Given the description of an element on the screen output the (x, y) to click on. 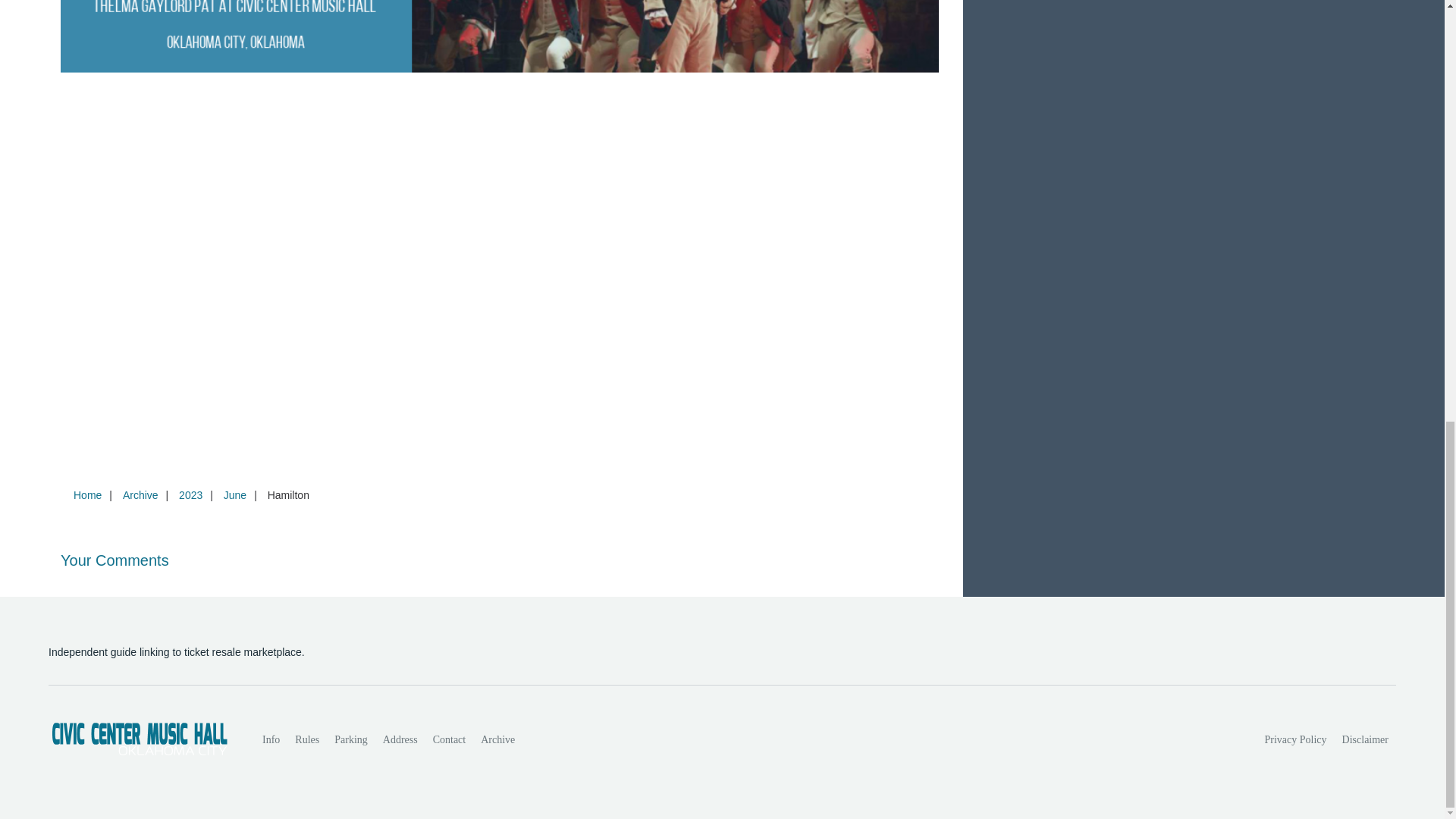
Disclaimer (1365, 739)
Address (400, 739)
2023 (190, 494)
June (234, 494)
Archive (497, 739)
Contact (449, 739)
Rules (306, 739)
Privacy Policy (1296, 739)
Info (270, 739)
